Given the description of an element on the screen output the (x, y) to click on. 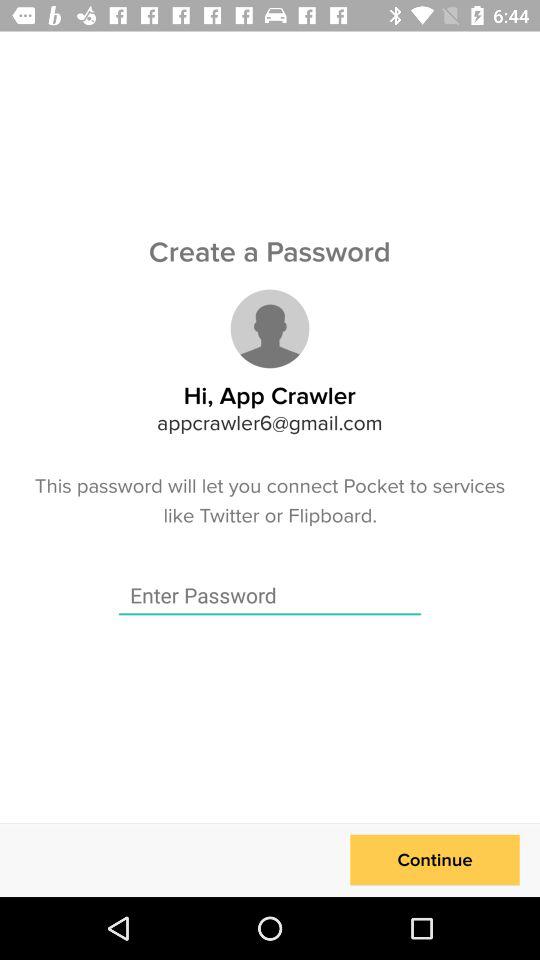
flip to the continue icon (434, 859)
